Given the description of an element on the screen output the (x, y) to click on. 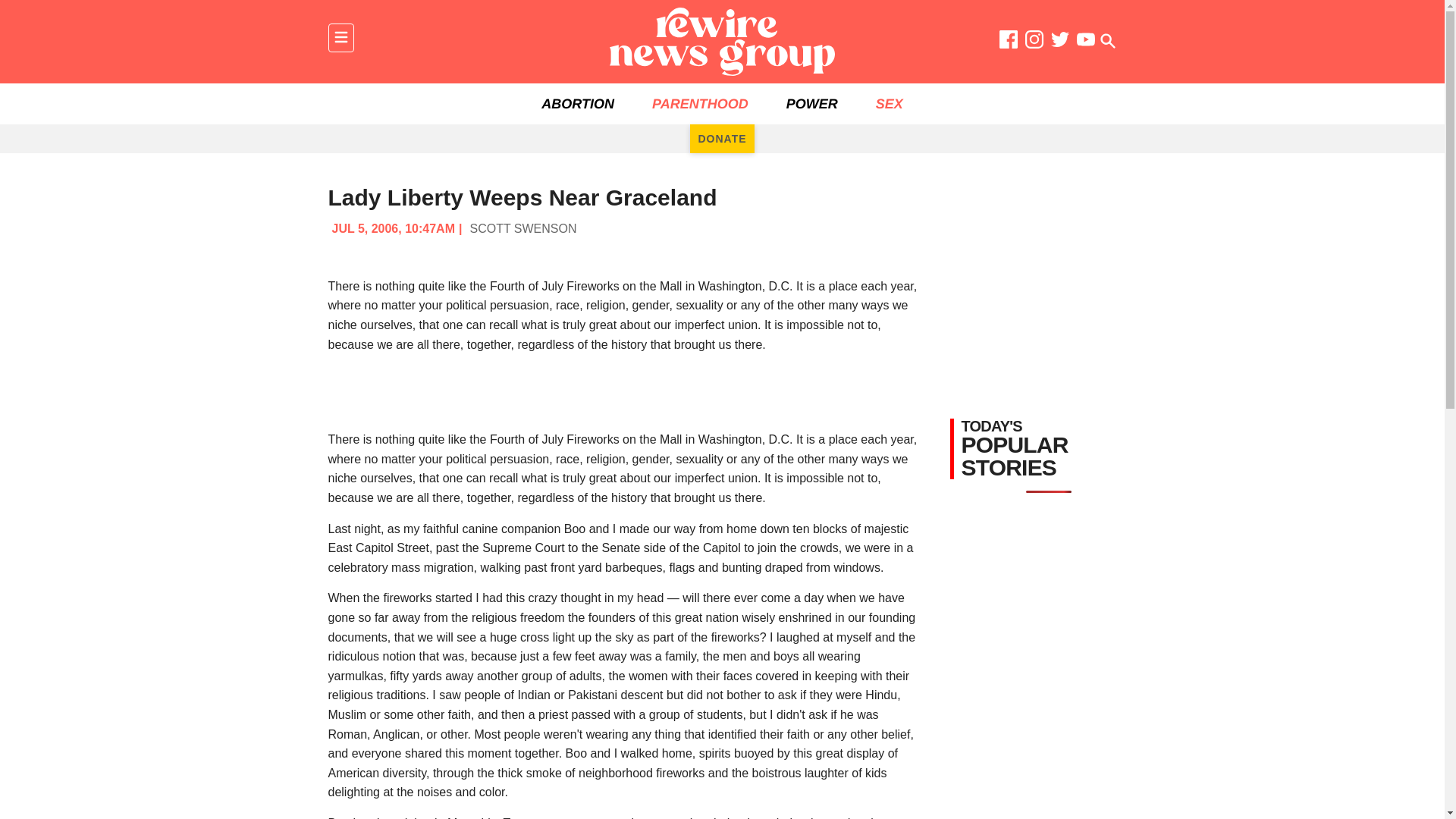
PARENTHOOD (700, 103)
DONATE (722, 138)
MENU (340, 37)
INSTAGRAM (1034, 41)
TWITTER (1059, 41)
ABORTION (577, 103)
POWER (812, 103)
SCOTT SWENSON (522, 228)
FACEBOOK (1007, 41)
SEX (889, 103)
